Given the description of an element on the screen output the (x, y) to click on. 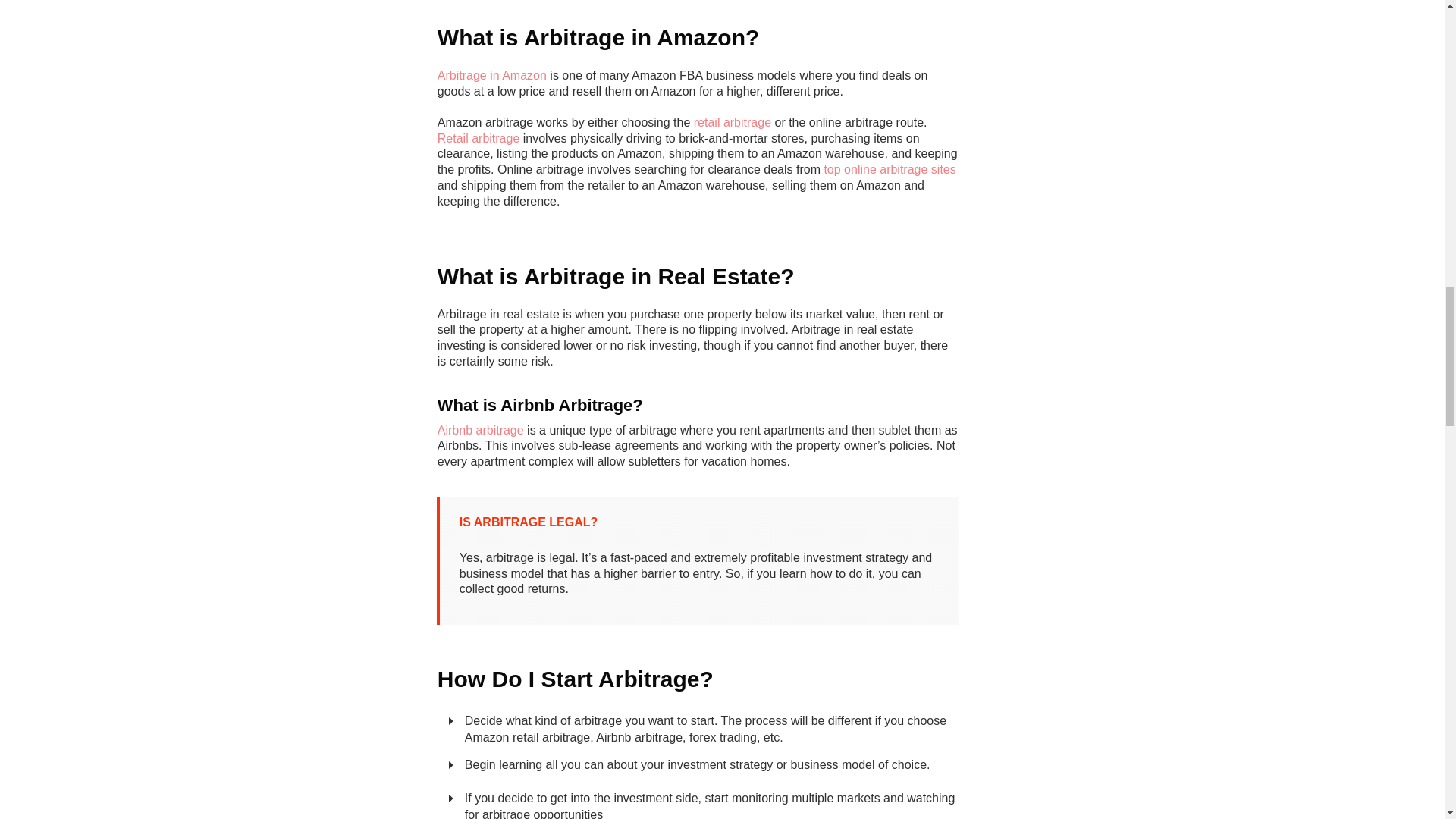
Retail arbitrage (478, 137)
retail arbitrage (732, 122)
top online arbitrage sites (889, 169)
Arbitrage in Amazon (492, 74)
Airbnb arbitrage (481, 430)
